Given the description of an element on the screen output the (x, y) to click on. 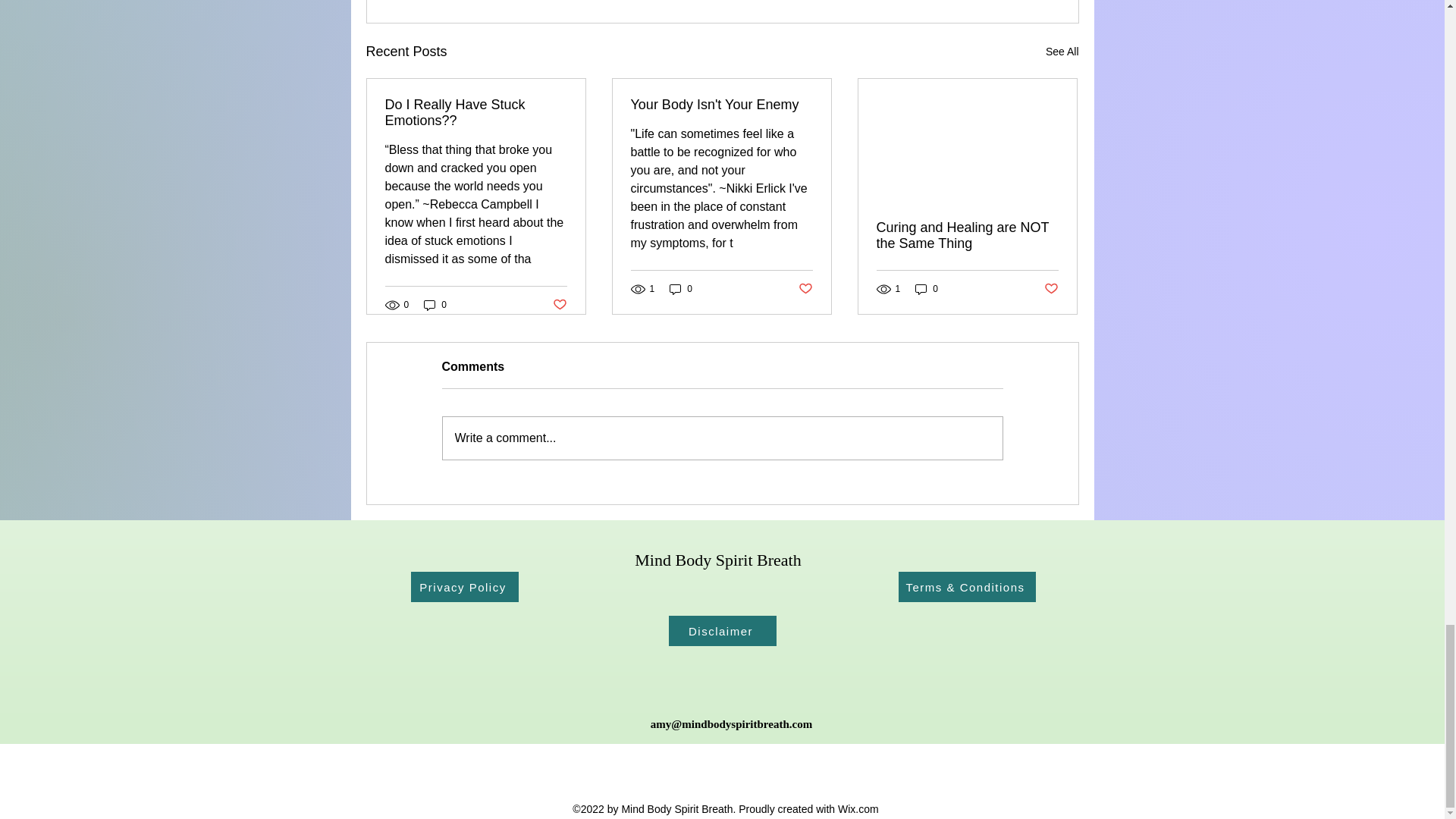
See All (1061, 51)
Post not marked as liked (558, 304)
0 (926, 288)
Privacy Policy (464, 586)
0 (435, 305)
Curing and Healing are NOT the Same Thing (967, 235)
Write a comment... (722, 437)
Post not marked as liked (1050, 289)
Disclaimer (722, 630)
Do I Really Have Stuck Emotions?? (476, 112)
Post not marked as liked (804, 289)
Your Body Isn't Your Enemy (721, 105)
0 (681, 288)
